Given the description of an element on the screen output the (x, y) to click on. 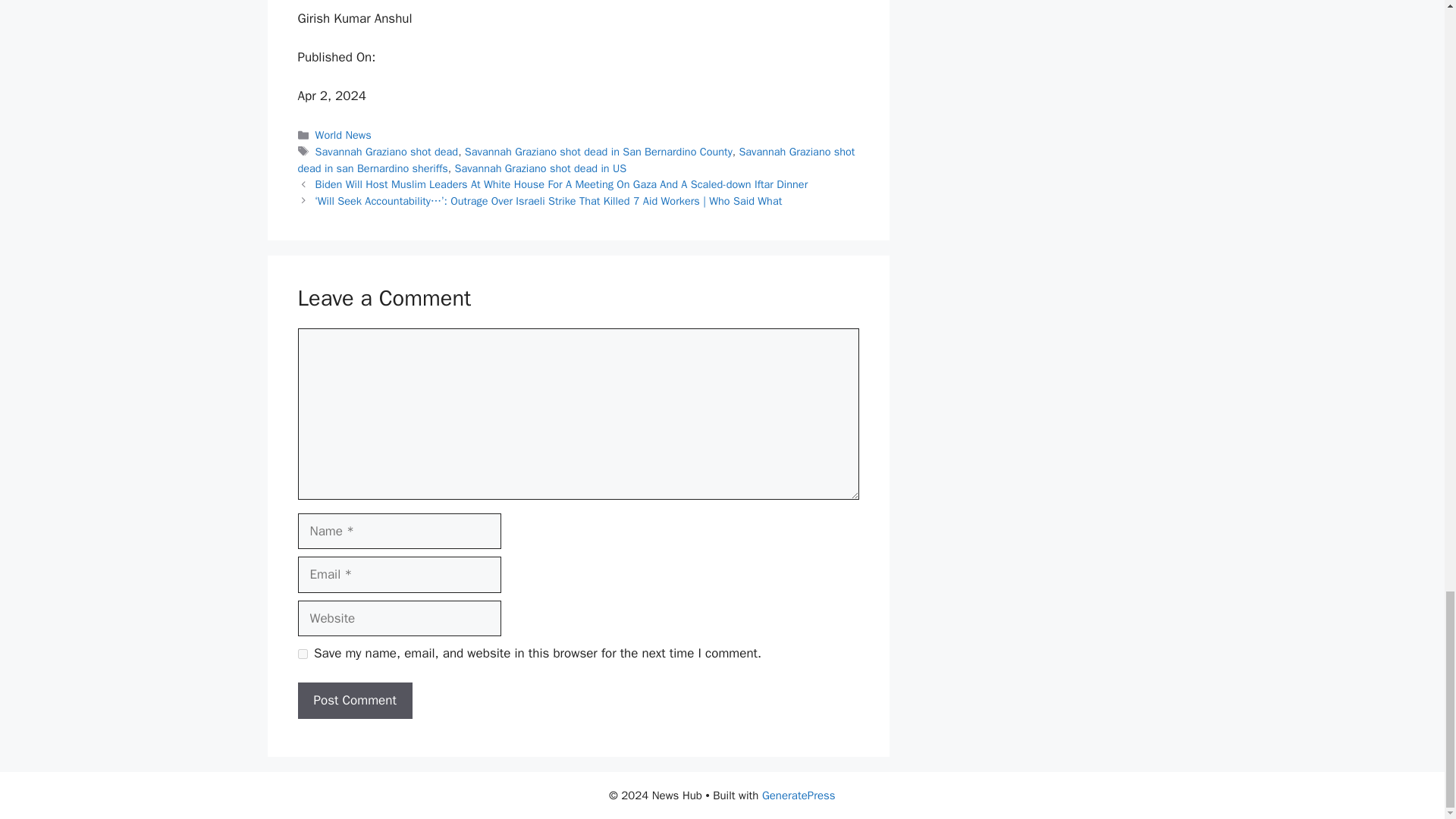
Savannah Graziano shot dead in San Bernardino County (598, 151)
Post Comment (354, 700)
GeneratePress (798, 795)
yes (302, 654)
Savannah Graziano shot dead in san Bernardino sheriffs (575, 159)
Savannah Graziano shot dead (386, 151)
Post Comment (354, 700)
Savannah Graziano shot dead in US (540, 168)
World News (343, 134)
